Given the description of an element on the screen output the (x, y) to click on. 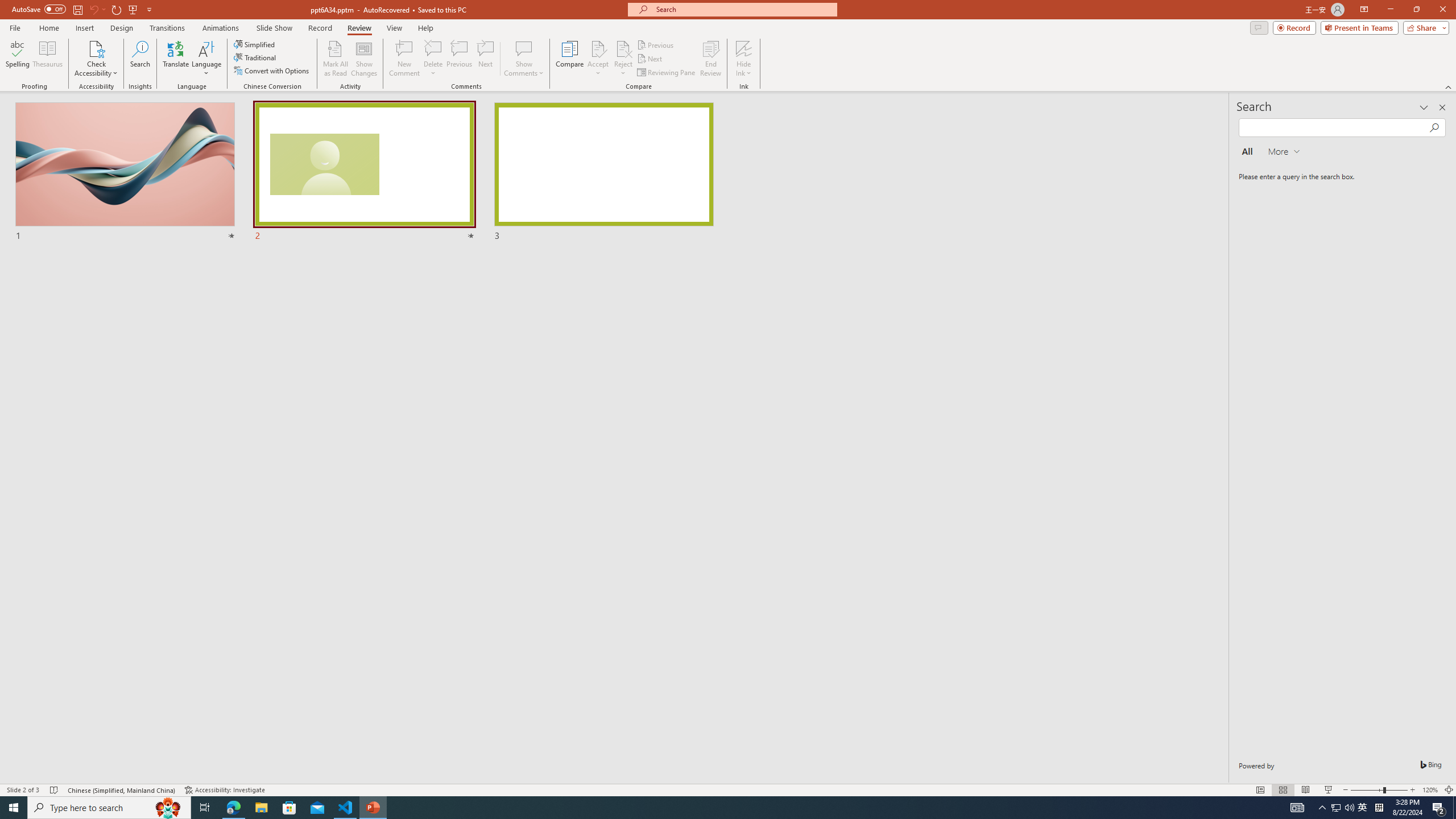
Zoom 120% (1430, 790)
